Given the description of an element on the screen output the (x, y) to click on. 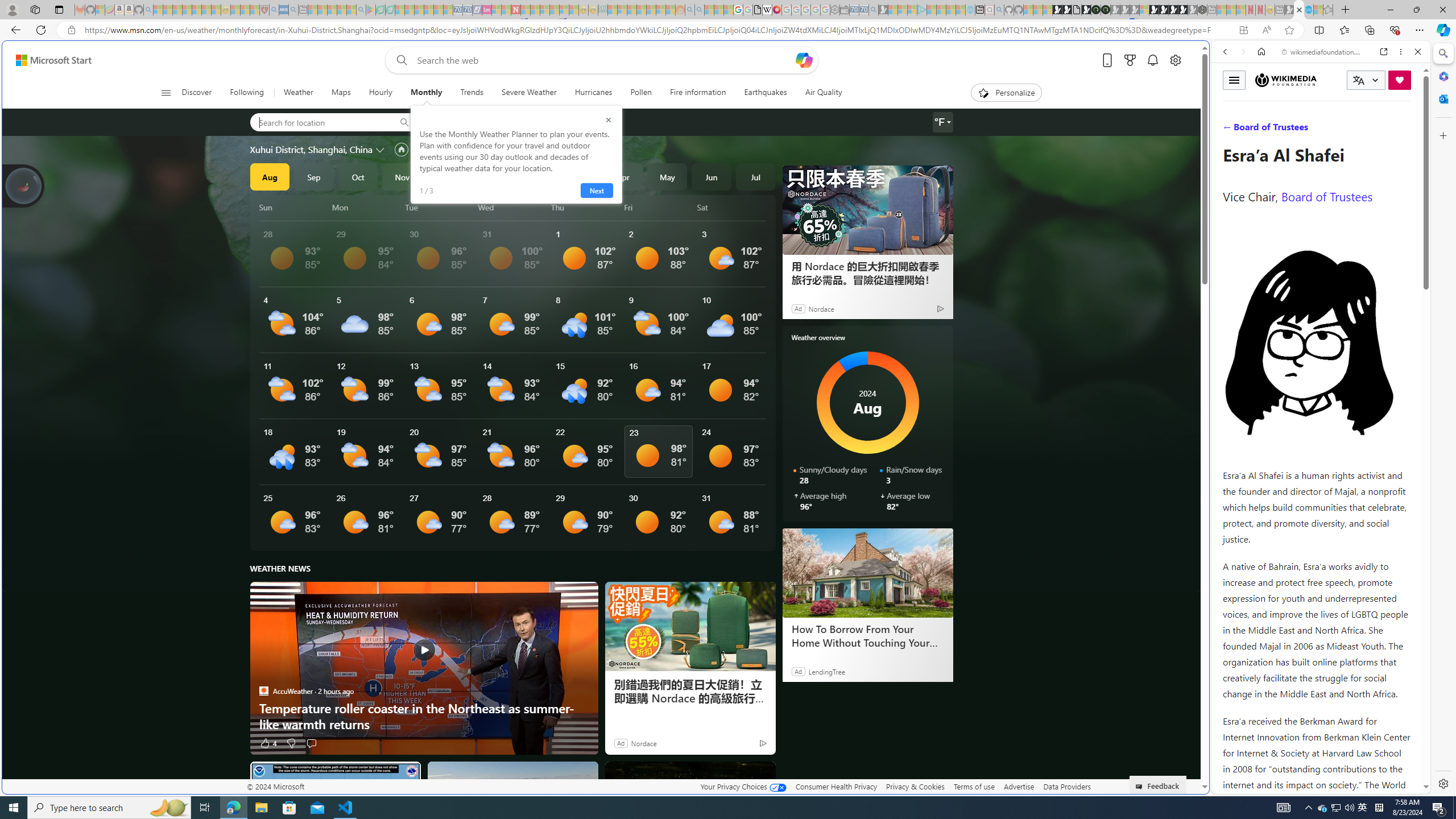
Jobs - lastminute.com Investor Portal - Sleeping (486, 9)
Set as primary location (400, 149)
The Weather Channel - MSN - Sleeping (177, 9)
Terms of use (973, 785)
Maps (340, 92)
MSN (1118, 536)
